Given the description of an element on the screen output the (x, y) to click on. 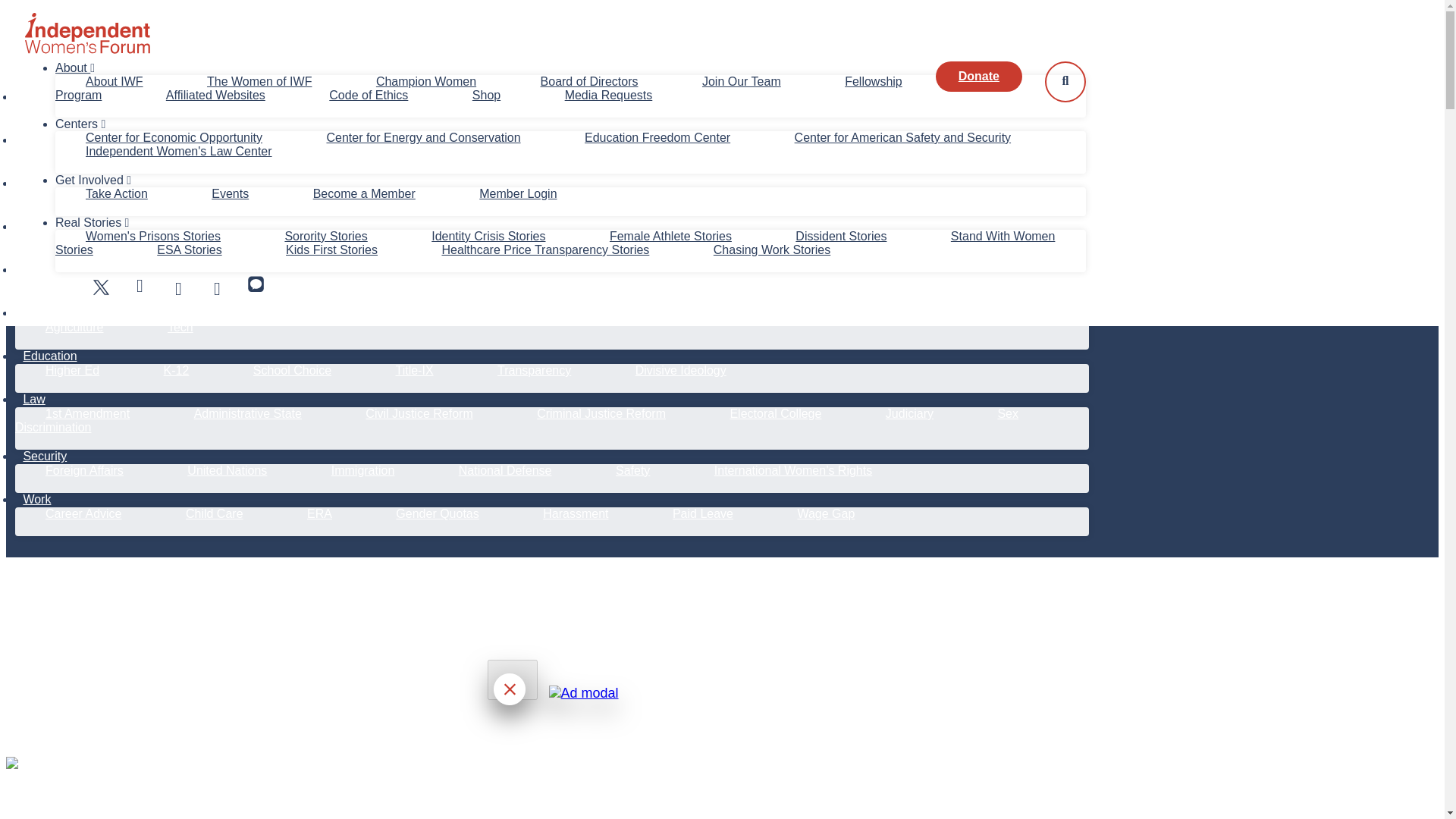
Champion Women (426, 81)
Center for Economic Opportunity (173, 137)
Center for American Safety and Security (902, 137)
Education Freedom Center (657, 137)
Center for Energy and Conservation (422, 137)
Board of Directors (589, 81)
About IWF (114, 81)
Fellowship Program (478, 87)
Affiliated Websites (215, 94)
Healthcare Price Transparency Stories (544, 249)
